Given the description of an element on the screen output the (x, y) to click on. 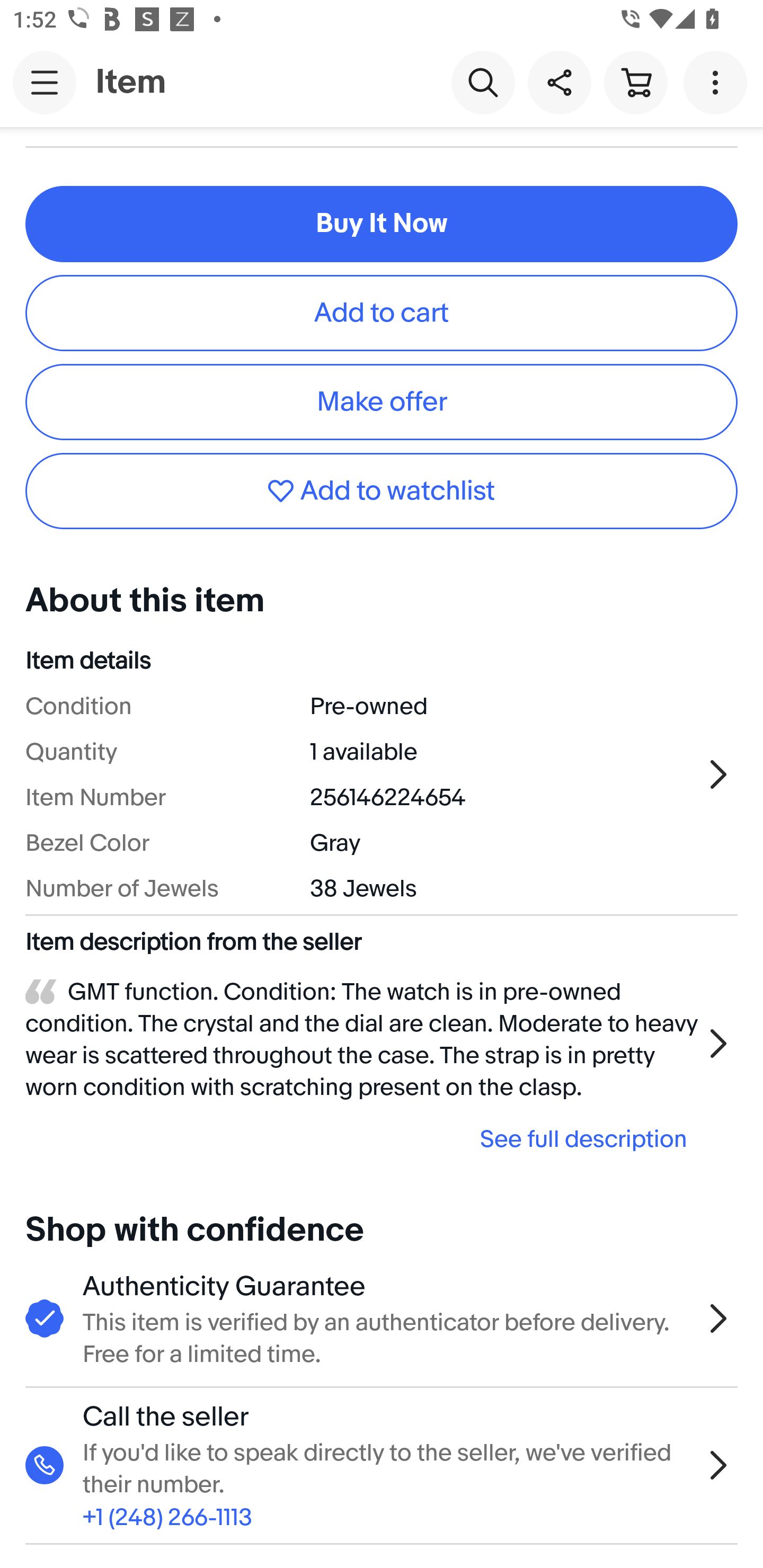
Main navigation, open (44, 82)
Search (482, 81)
Share this item (559, 81)
Cart button shopping cart (635, 81)
More options (718, 81)
Buy It Now (381, 223)
Add to cart (381, 312)
Make offer (381, 401)
Add to watchlist (381, 491)
See full description (362, 1138)
